Given the description of an element on the screen output the (x, y) to click on. 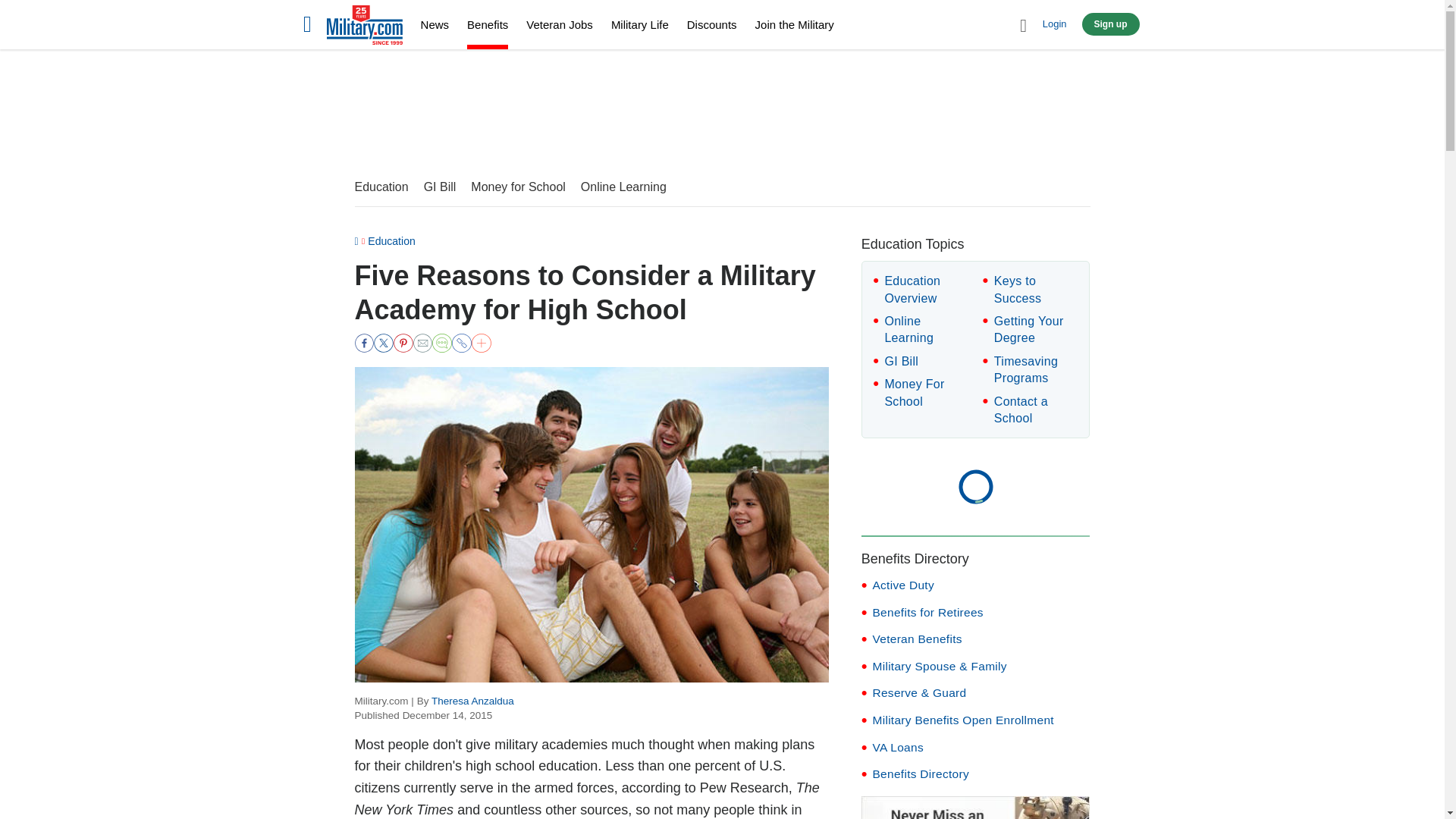
Benefits (487, 26)
Home (364, 27)
Military Life (639, 24)
Veteran Jobs (558, 24)
